Given the description of an element on the screen output the (x, y) to click on. 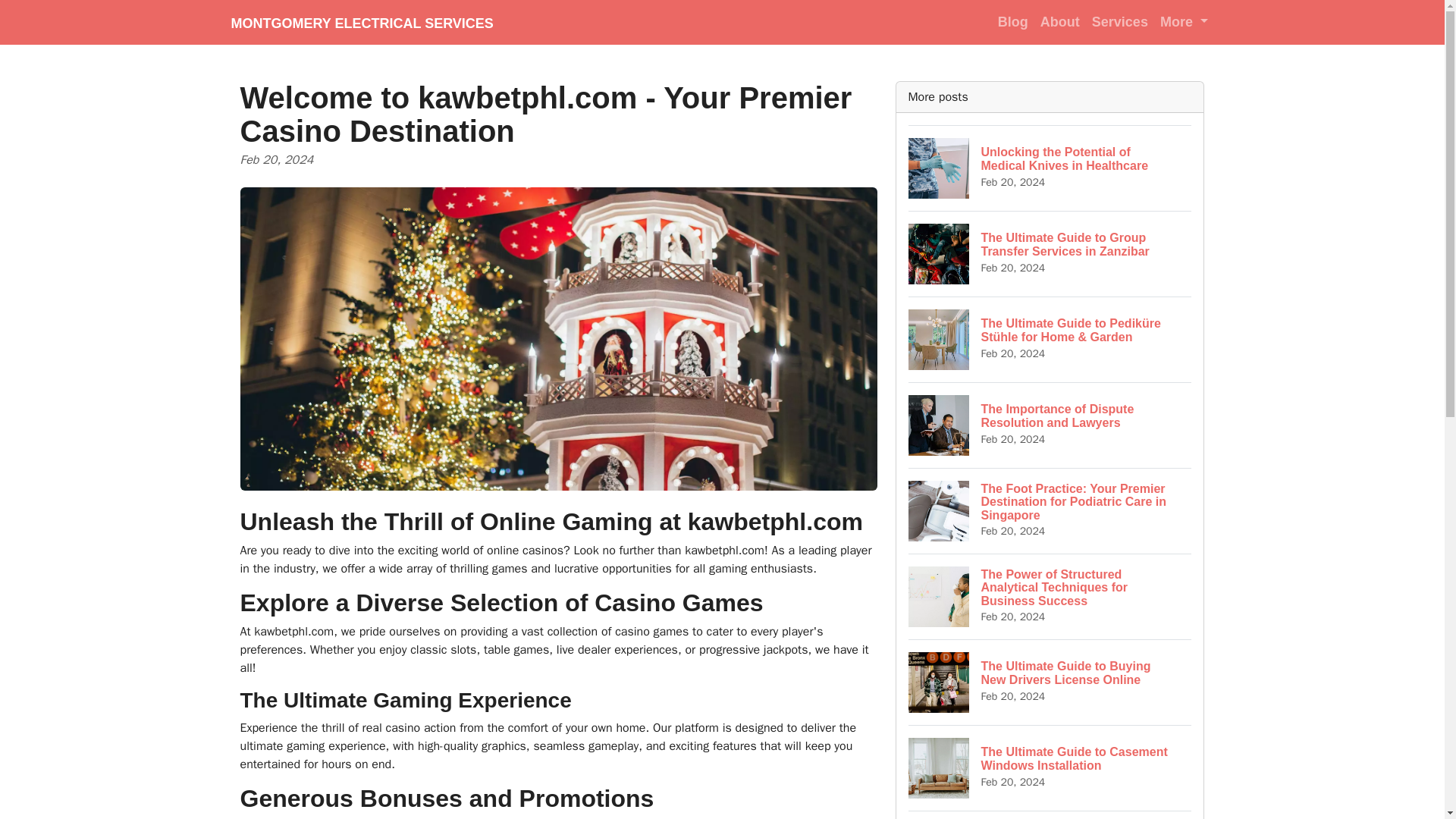
Services (1120, 21)
More (1184, 21)
MONTGOMERY ELECTRICAL SERVICES (361, 22)
Blog (1012, 21)
About (1059, 21)
